Given the description of an element on the screen output the (x, y) to click on. 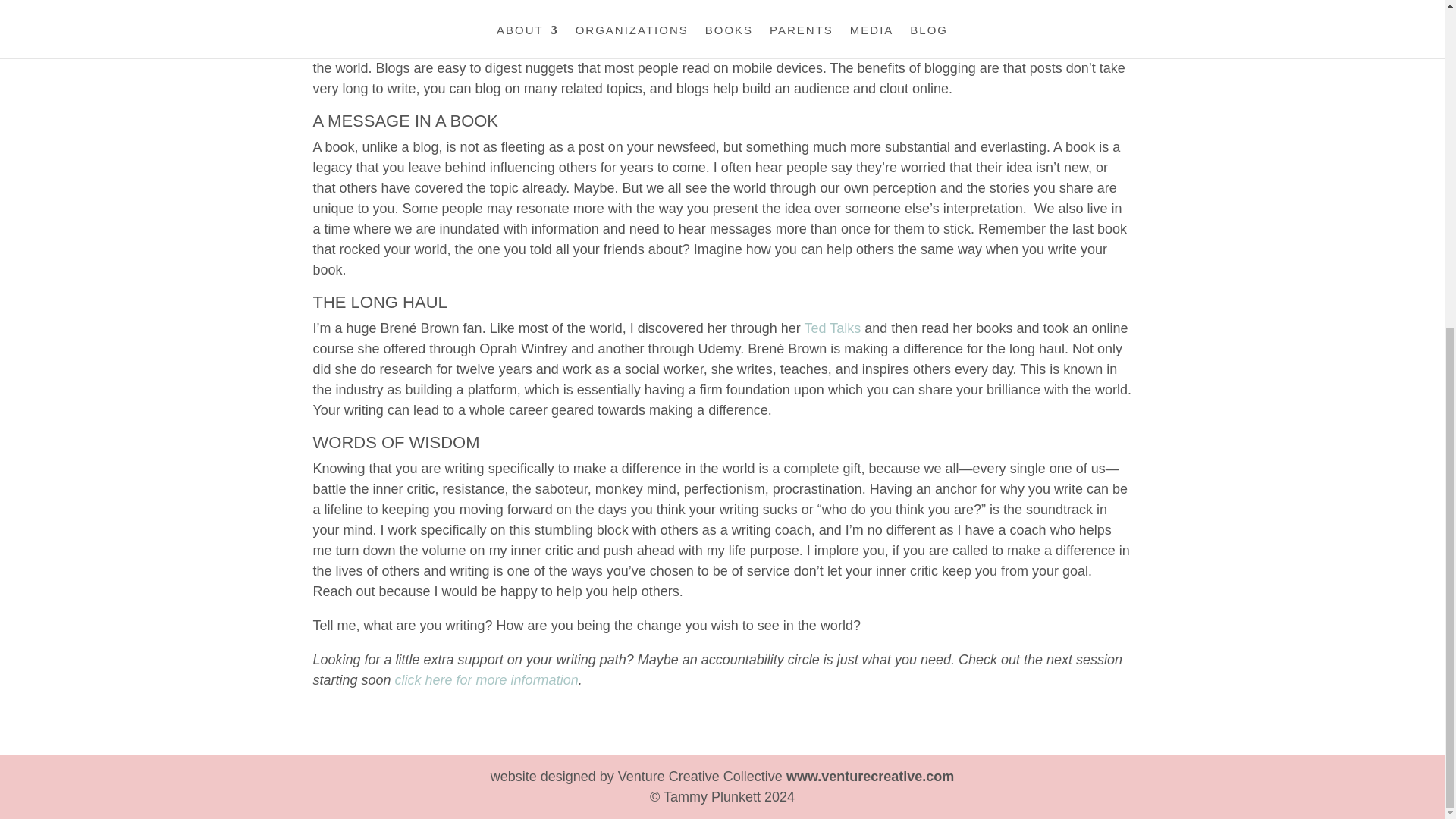
social media feeds (864, 27)
click here for more information (486, 679)
www.venturecreative.com (869, 776)
Ted Talks (833, 328)
